Given the description of an element on the screen output the (x, y) to click on. 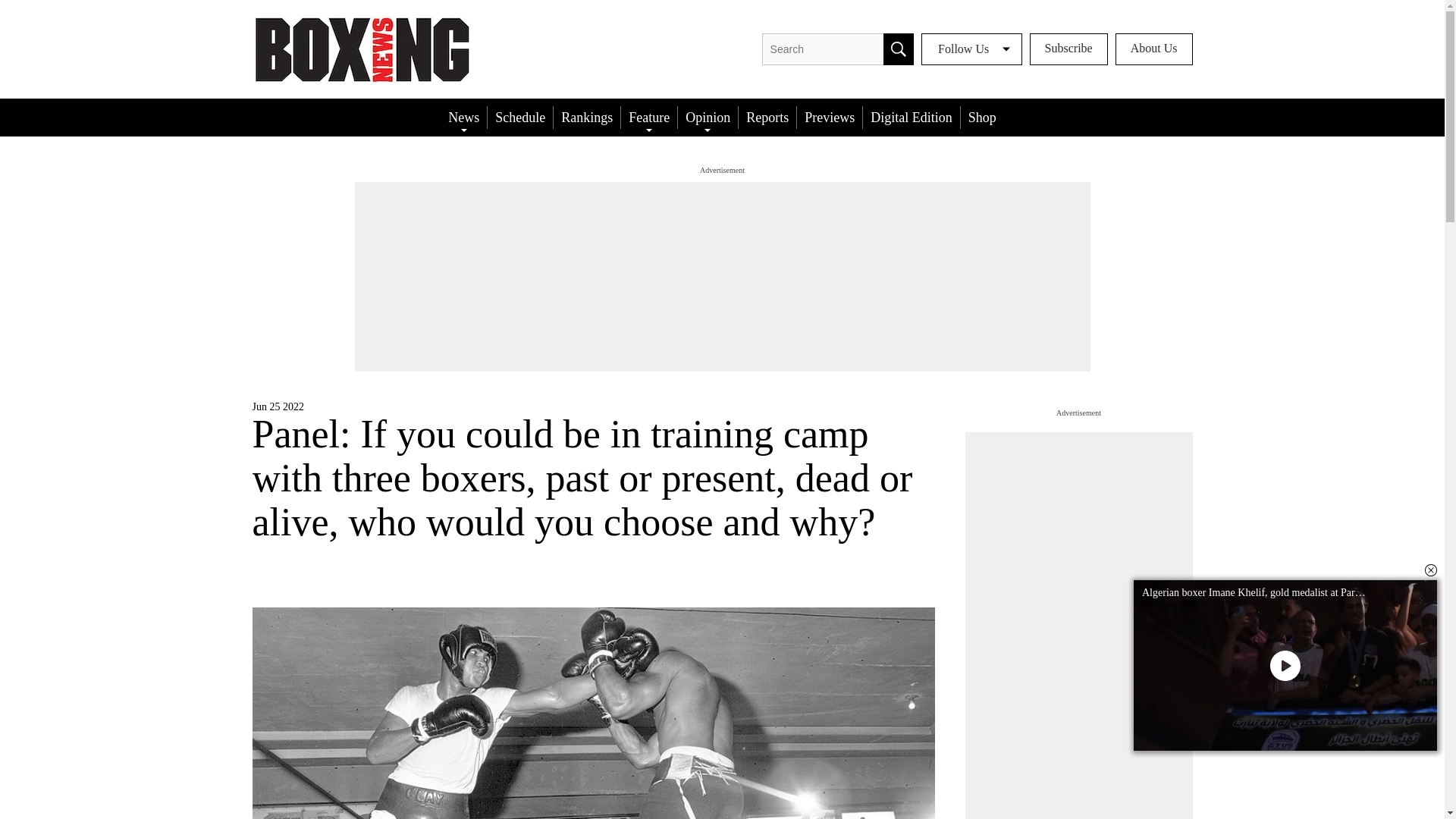
Rankings (586, 117)
Digital Edition (911, 117)
Shop (982, 117)
Follow Us (971, 49)
Previews (828, 117)
Opinion (708, 117)
Reports (767, 117)
News (463, 117)
About Us (1153, 49)
Feature (649, 117)
